Given the description of an element on the screen output the (x, y) to click on. 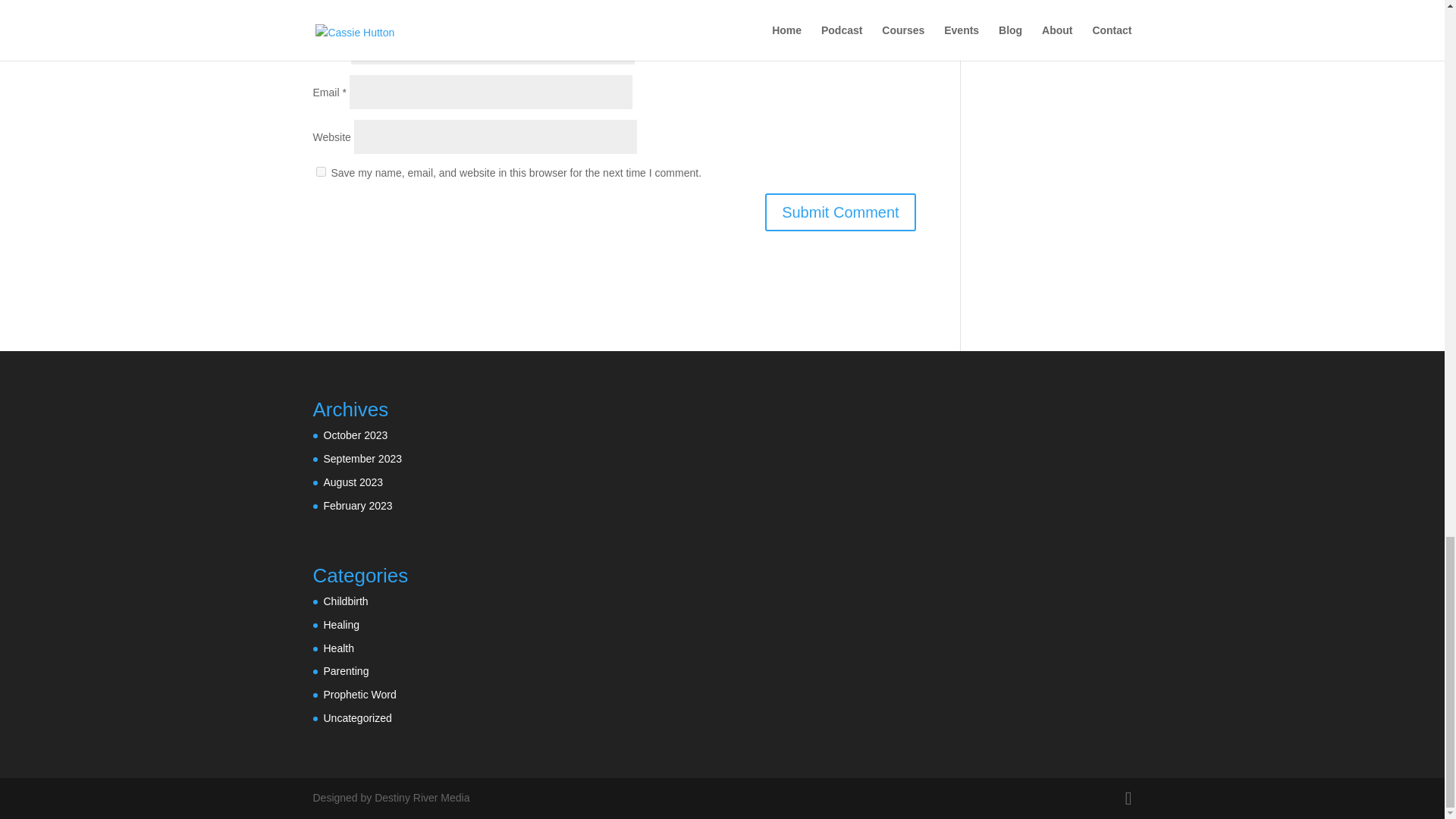
Health (338, 648)
September 2023 (362, 458)
August 2023 (352, 481)
Healing (340, 624)
October 2023 (355, 435)
Submit Comment (840, 211)
yes (319, 171)
Prophetic Word (359, 694)
February 2023 (357, 505)
Childbirth (345, 601)
Uncategorized (357, 717)
Submit Comment (840, 211)
Parenting (345, 671)
